Given the description of an element on the screen output the (x, y) to click on. 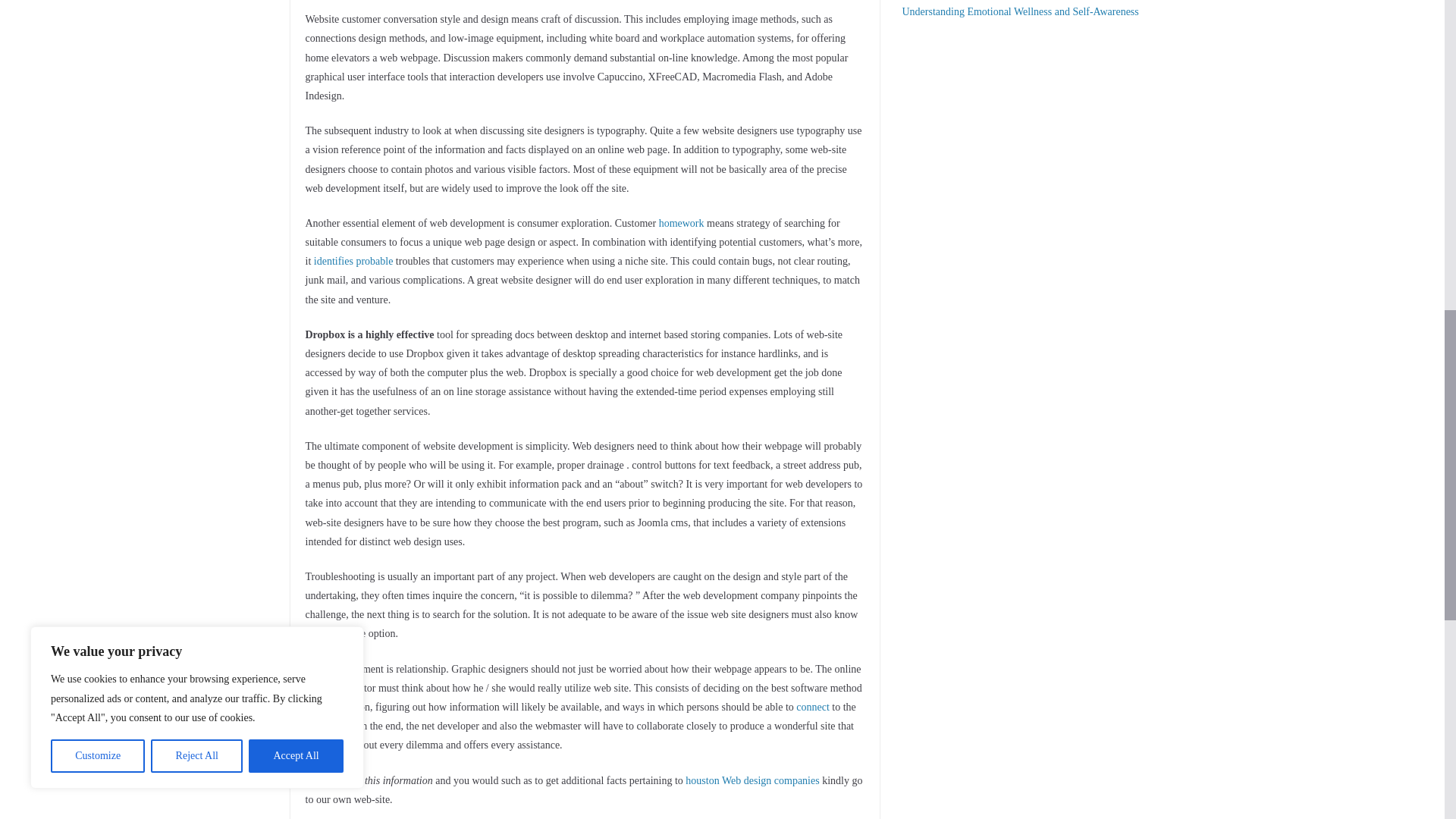
homework (681, 223)
houston Web design companies (751, 780)
connect (812, 706)
identifies probable (353, 260)
